Given the description of an element on the screen output the (x, y) to click on. 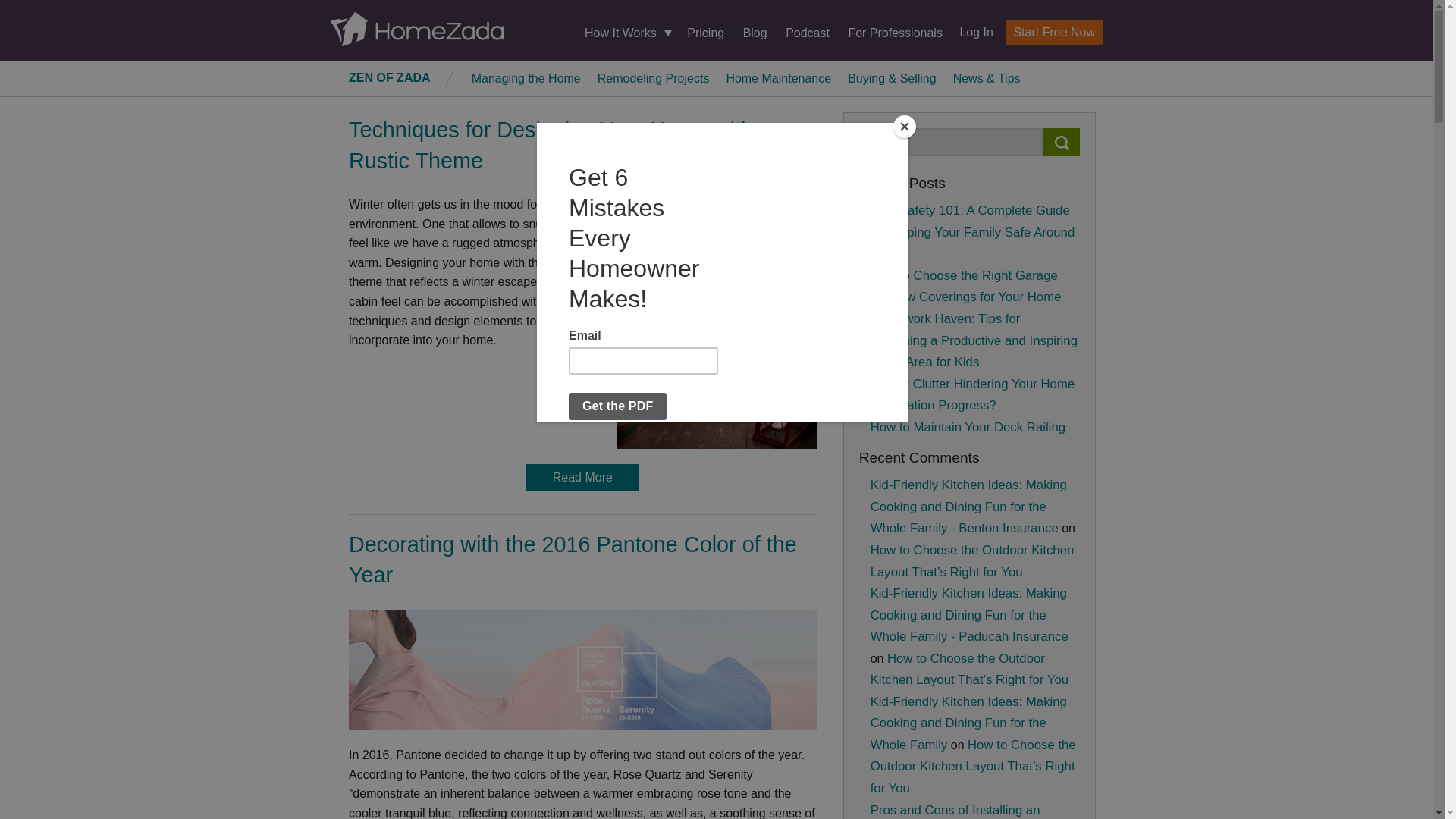
Log In (969, 31)
Home Maintenance (778, 77)
Read More (582, 477)
Managing the Home (525, 77)
Blog (754, 32)
Remodeling Projects (653, 77)
ZEN OF ZADA (389, 77)
Techniques for Designing Your Home with a Rustic Theme (560, 144)
Podcast (807, 32)
Decorating with the 2016 Pantone Color of the Year (572, 559)
For Professionals (894, 32)
Start Free Now (1054, 32)
Pricing (705, 32)
How It Works (626, 33)
